Given the description of an element on the screen output the (x, y) to click on. 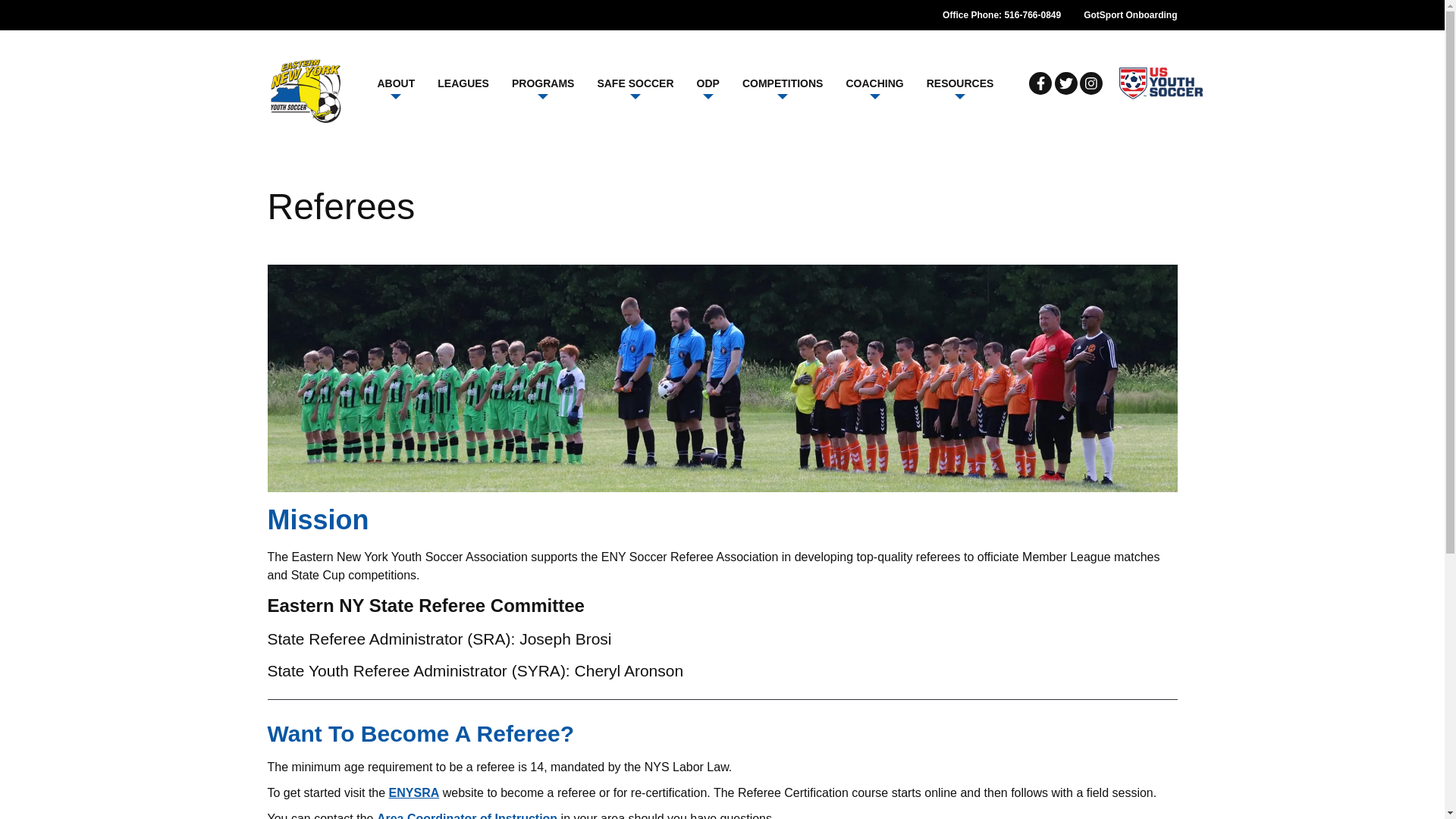
PROGRAMS (542, 83)
GotSport Onboarding (1129, 15)
Office Phone: 516-766-0849 (1001, 15)
SAFE SOCCER (634, 83)
ABOUT (395, 83)
LEAGUES (463, 83)
ODP (707, 83)
